Given the description of an element on the screen output the (x, y) to click on. 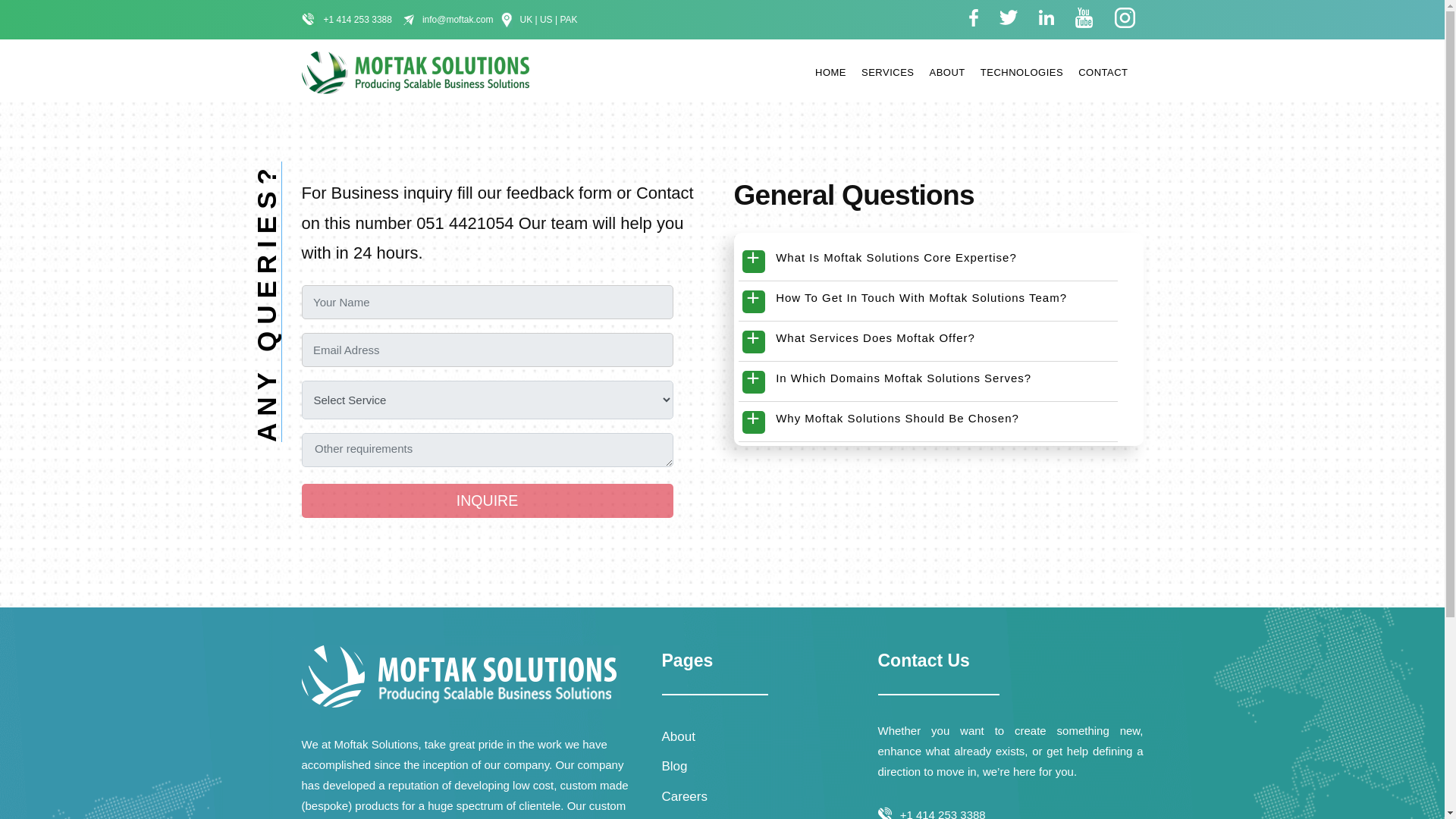
HOME (830, 72)
Careers (683, 796)
HOME (830, 72)
Inquire (486, 500)
SERVICES (887, 72)
SERVICES (887, 72)
CONTACT (1102, 72)
Inquire (486, 500)
TECHNOLOGIES (1020, 72)
About (677, 736)
CONTACT (1102, 72)
Blog (674, 766)
ABOUT (947, 72)
TECHNOLOGIES (1020, 72)
ABOUT (947, 72)
